Given the description of an element on the screen output the (x, y) to click on. 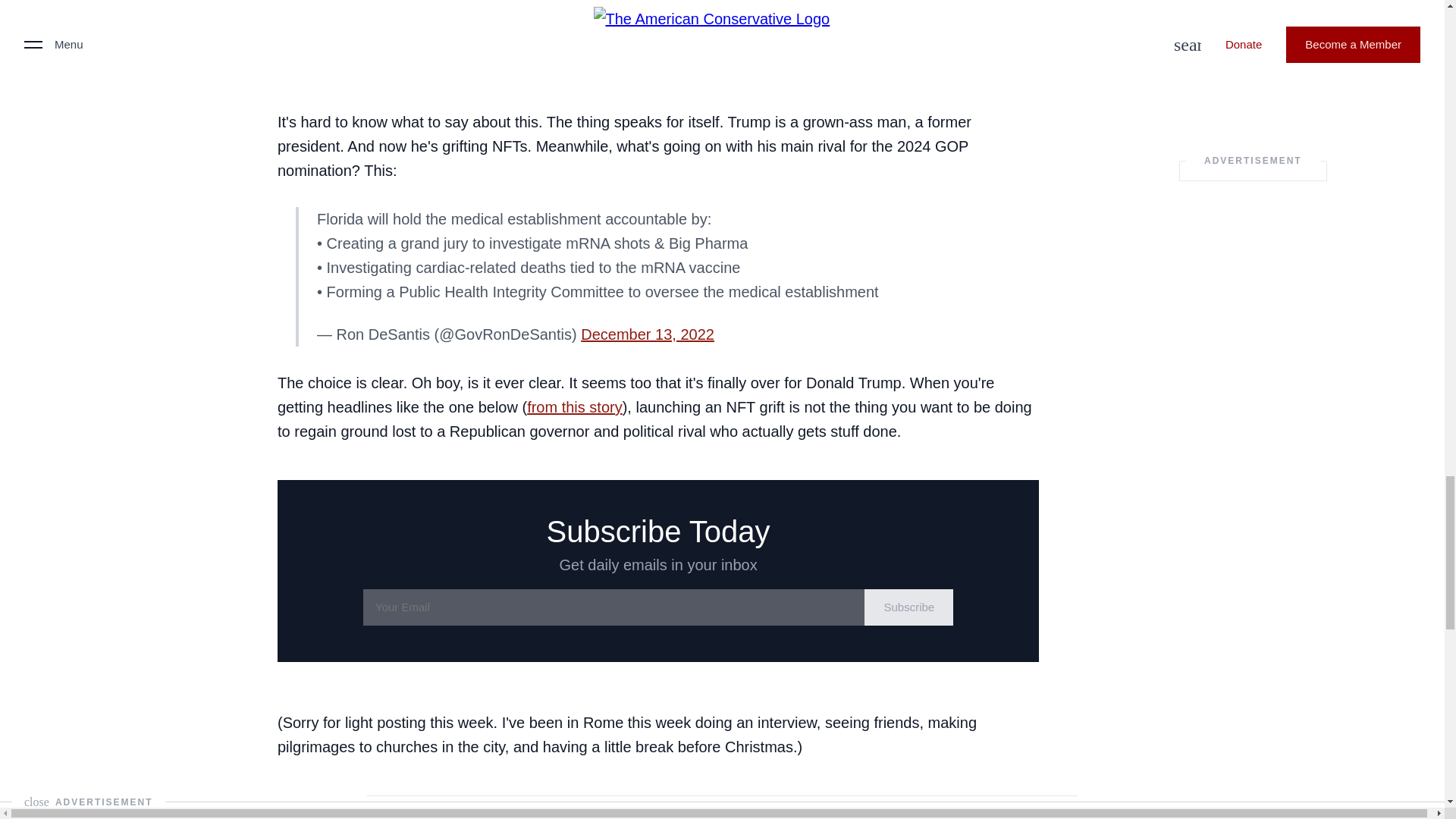
December 13, 2022 (647, 334)
from this story (575, 406)
Subscribe (908, 606)
Subscribe (908, 606)
